Given the description of an element on the screen output the (x, y) to click on. 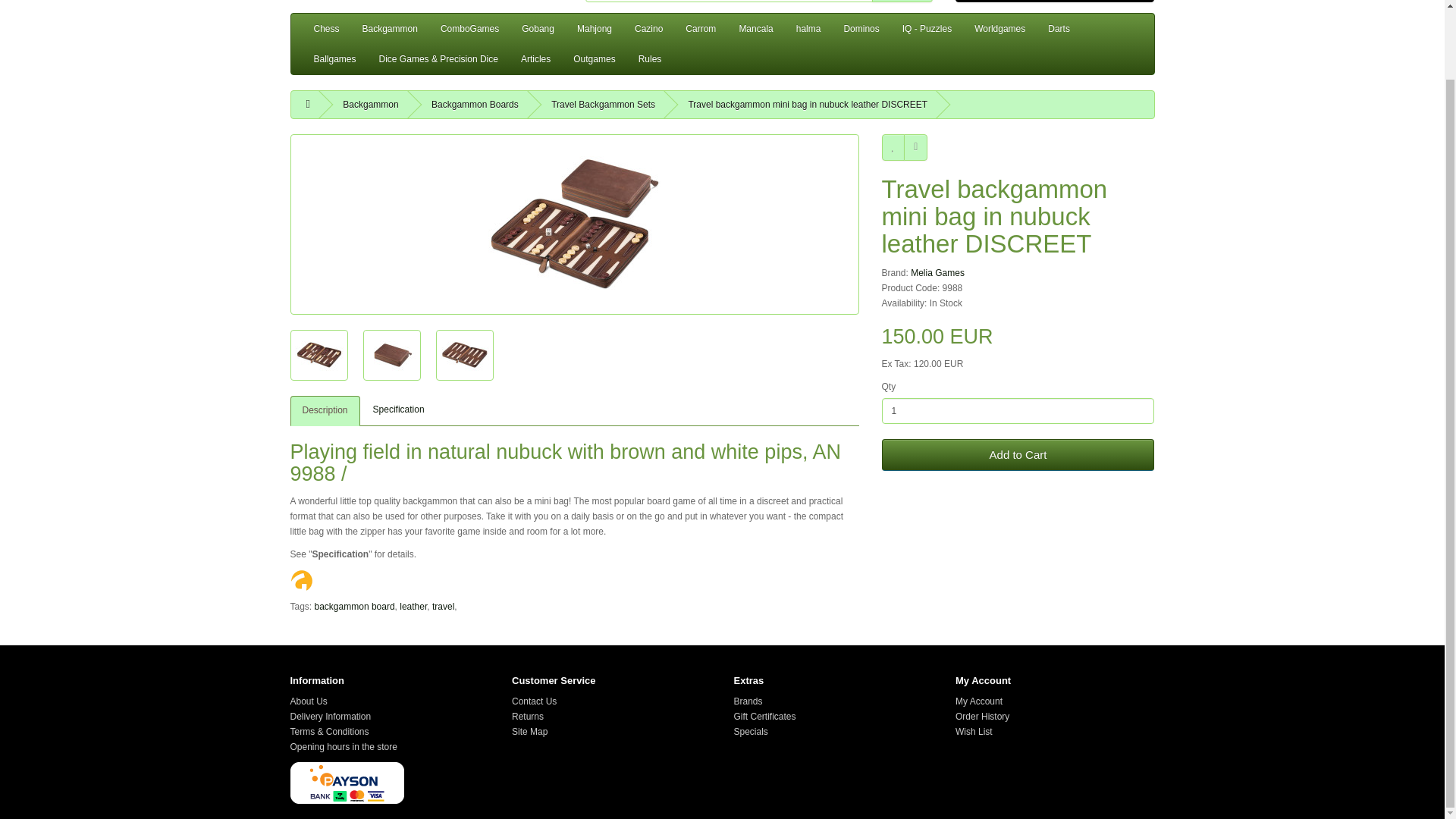
Travel backgammon mini bag in nubuck leather DISCREET (464, 355)
1 (1017, 411)
Backgammon (389, 28)
Mancala (755, 28)
Travel backgammon mini bag in nubuck leather DISCREET (574, 224)
Cazino (648, 28)
Gobang (538, 28)
Mahjong (594, 28)
ComboGames (470, 28)
gammongames.uk (425, 2)
